Given the description of an element on the screen output the (x, y) to click on. 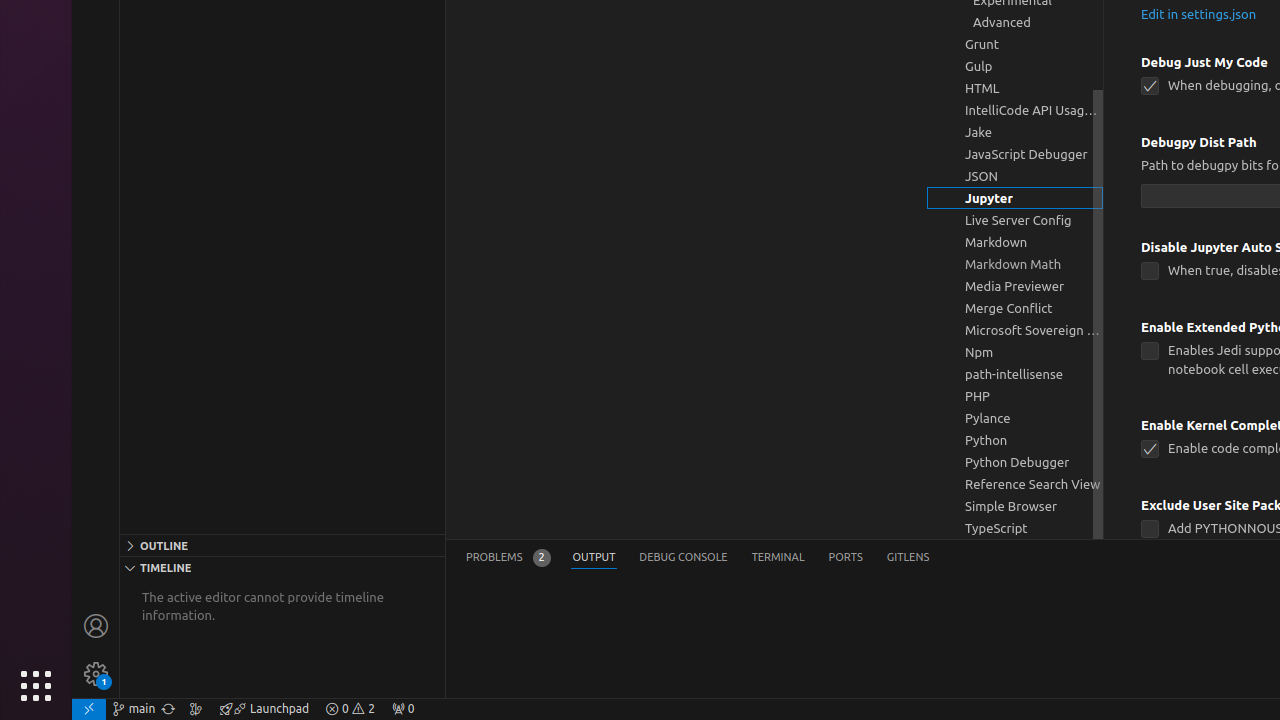
No Ports Forwarded Element type: push-button (403, 709)
Jake, group Element type: tree-item (1015, 132)
OSWorld (Git) - main, Checkout Branch/Tag... Element type: push-button (134, 709)
Warnings: 2 Element type: push-button (350, 709)
Media Previewer, group Element type: tree-item (1015, 286)
